Given the description of an element on the screen output the (x, y) to click on. 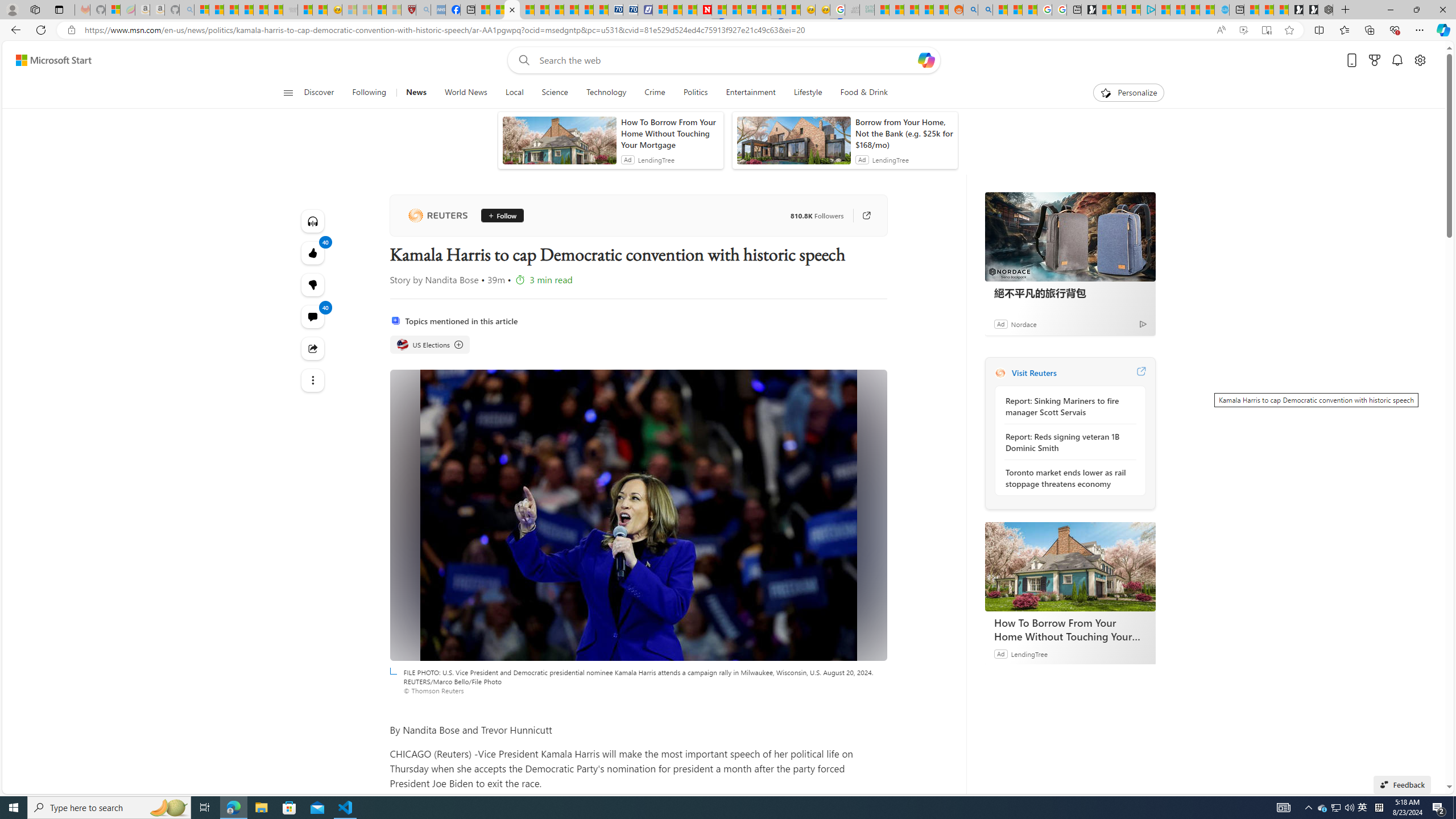
Open settings (1420, 60)
Report: Sinking Mariners to fire manager Scott Servais (1066, 406)
Combat Siege - Sleeping (290, 9)
Entertainment (750, 92)
Enter Immersive Reader (F9) (1266, 29)
